Given the description of an element on the screen output the (x, y) to click on. 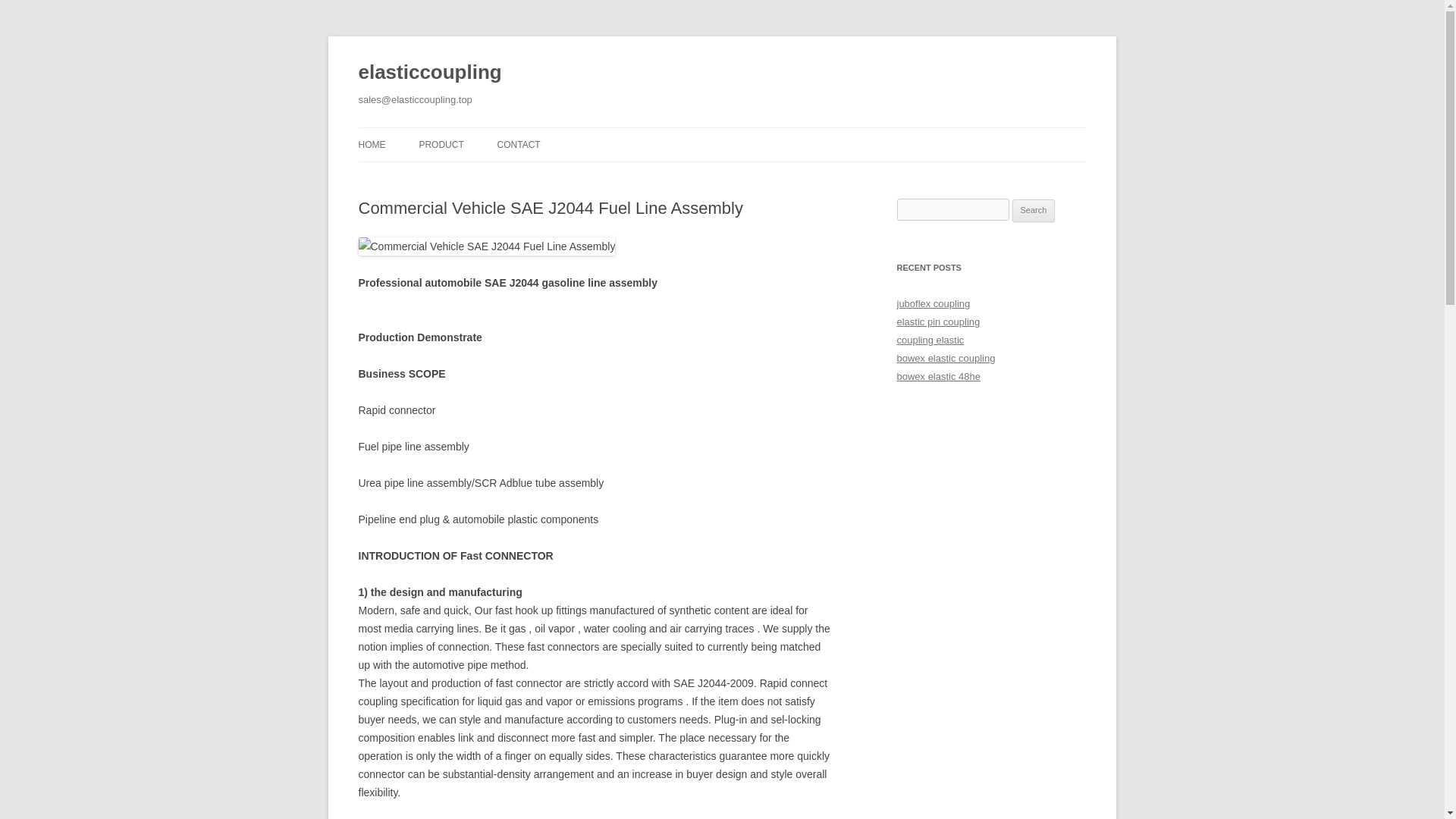
bowex elastic coupling (945, 357)
Commercial Vehicle SAE J2044 Fuel Line Assembly (486, 246)
elastic pin coupling (937, 321)
PRODUCT (441, 144)
coupling elastic (929, 339)
CONTACT (518, 144)
juboflex coupling (932, 303)
elasticcoupling (429, 72)
bowex elastic 48he (937, 376)
Search (1033, 210)
elasticcoupling (429, 72)
Search (1033, 210)
